Given the description of an element on the screen output the (x, y) to click on. 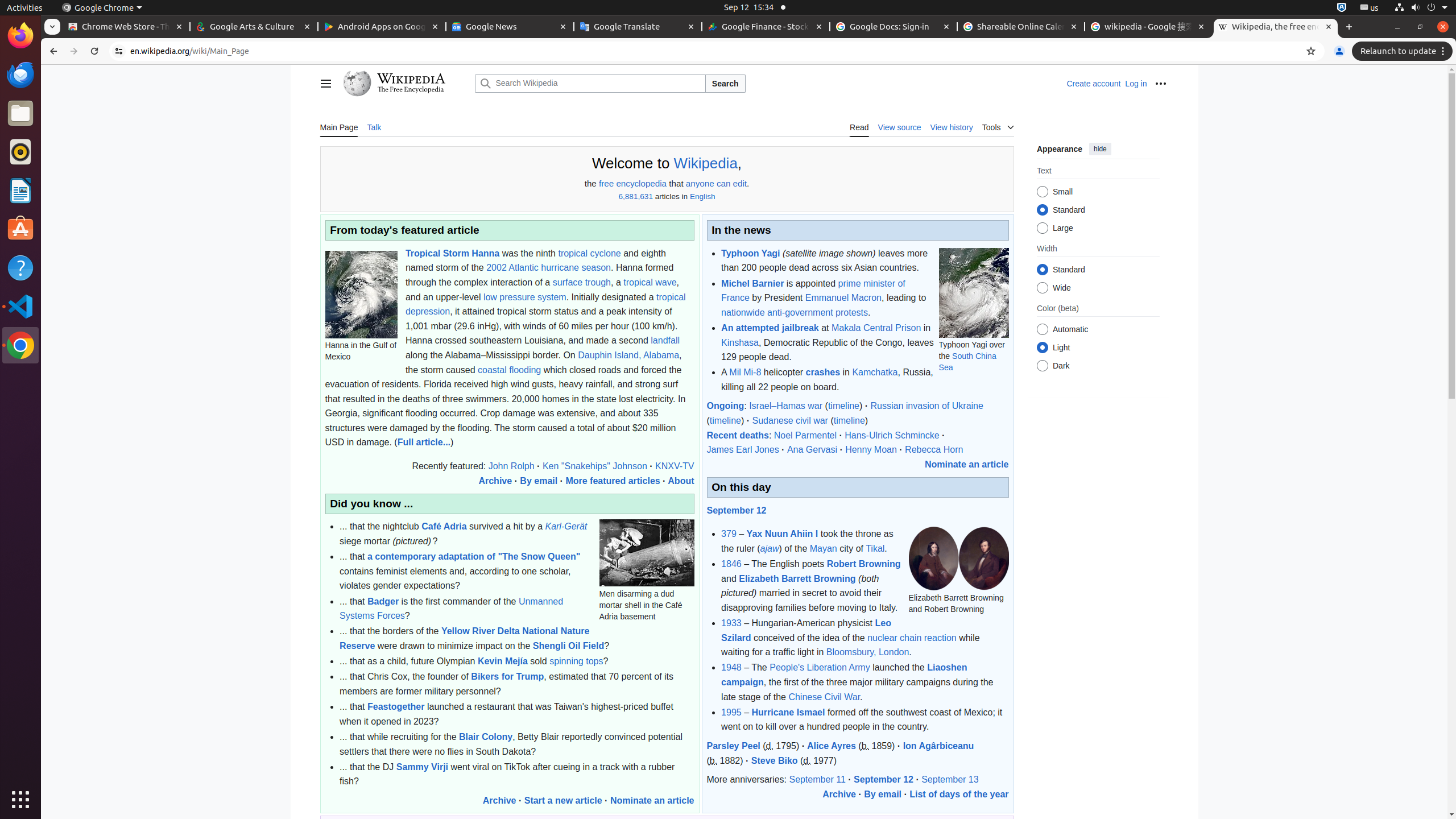
Tropical Storm Hanna Element type: link (451, 252)
John Rolph Element type: link (510, 466)
Hanna in the Gulf of Mexico Element type: link (360, 294)
Sudanese civil war Element type: link (789, 420)
prime minister of France Element type: link (813, 290)
